Given the description of an element on the screen output the (x, y) to click on. 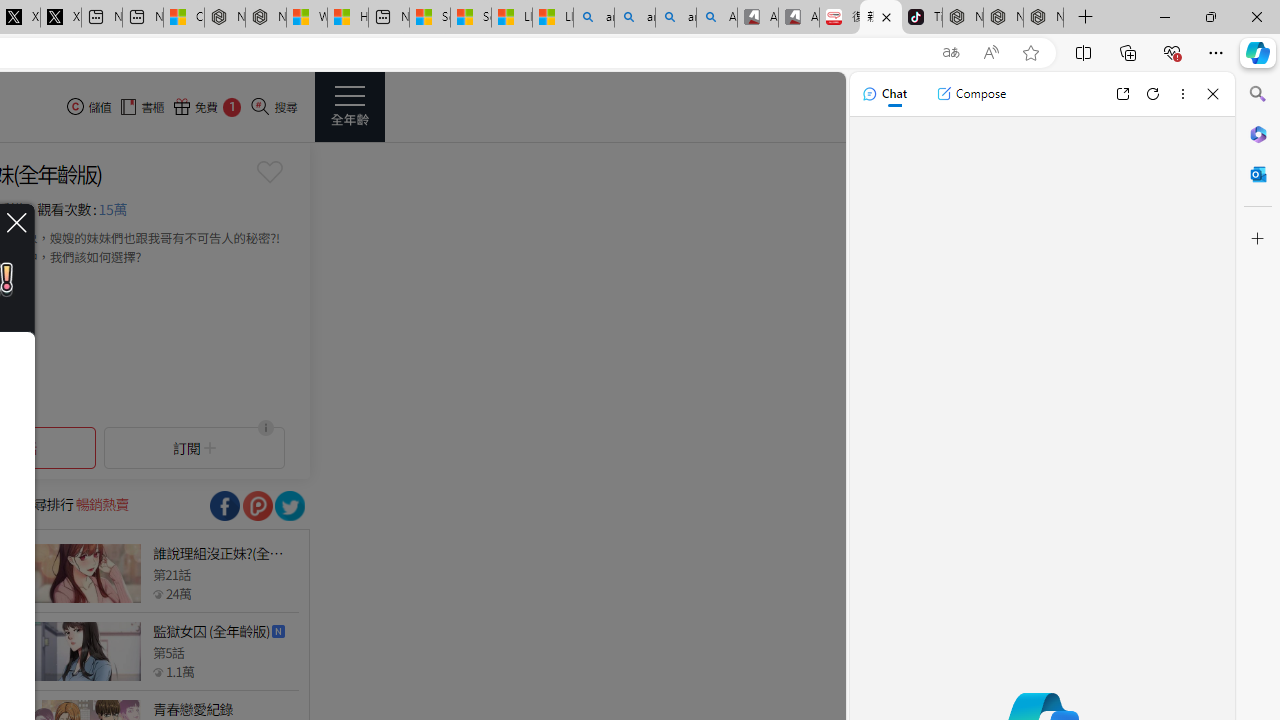
Open link in new tab (1122, 93)
More options (1182, 93)
Customize (1258, 239)
Nordace - Siena Pro 15 Essential Set (1043, 17)
